Given the description of an element on the screen output the (x, y) to click on. 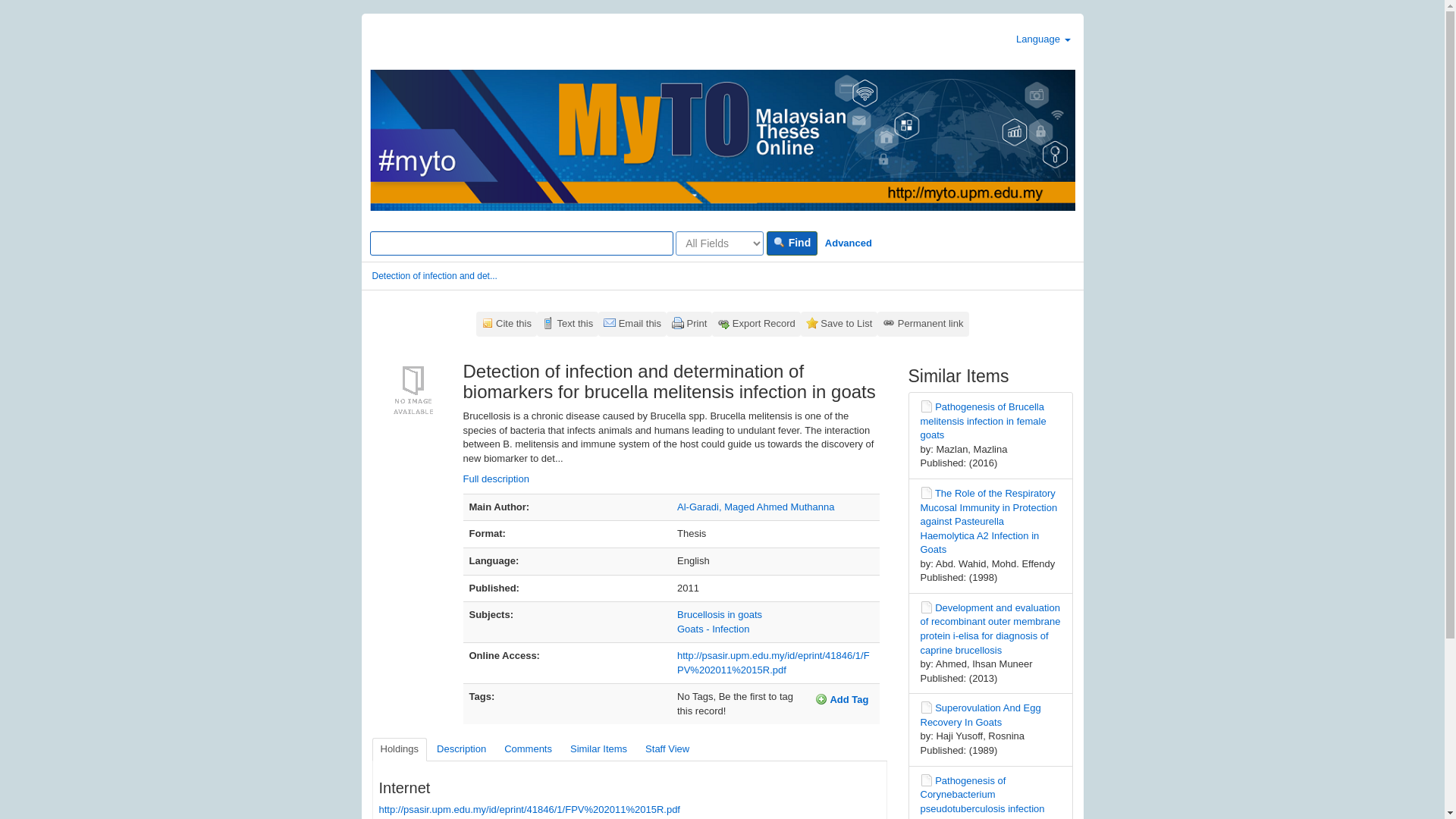
Full description (495, 478)
Goats - Infection (713, 628)
Thesis (926, 406)
Cite this (506, 324)
Brucellosis in goats (719, 614)
Al-Garadi, Maged Ahmed Muthanna (755, 506)
Brucellosis in goats (719, 614)
Detection of infection and det... (433, 276)
Permanent link (922, 324)
